Given the description of an element on the screen output the (x, y) to click on. 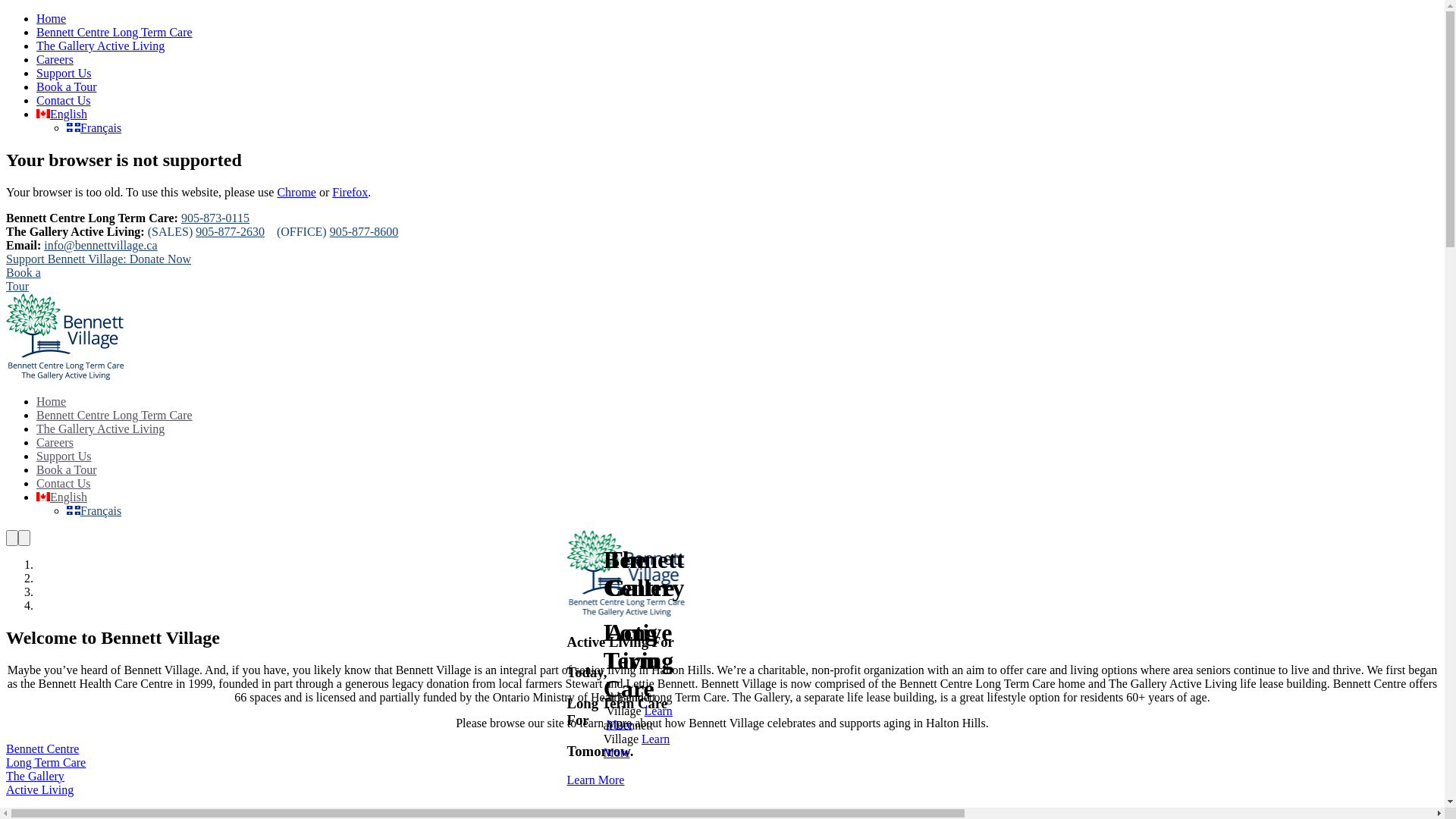
Support Us Element type: text (63, 72)
Book a Tour Element type: text (66, 469)
Careers Element type: text (54, 442)
English Element type: text (61, 496)
info@bennettvillage.ca Element type: text (99, 244)
Book a
Tour Element type: text (23, 279)
Firefox Element type: text (349, 191)
Careers Element type: text (54, 59)
905-877-8600 Element type: text (363, 231)
Learn More Element type: text (595, 779)
Support Bennett Village: Donate Now Element type: text (98, 258)
Chrome Element type: text (296, 191)
The Gallery Active Living Element type: text (100, 45)
Bennett Centre Long Term Care Element type: text (114, 31)
Bennett Centre
Long Term Care Element type: text (45, 755)
The Gallery
Active Living Element type: text (39, 782)
Home Element type: text (50, 401)
905-877-2630 Element type: text (229, 231)
Support Us Element type: text (63, 455)
Bennett Centre Long Term Care Element type: text (114, 414)
Learn More Element type: text (636, 745)
Book a Tour Element type: text (66, 86)
The Gallery Active Living Element type: text (100, 428)
English Element type: text (61, 113)
905-873-0115 Element type: text (215, 217)
Contact Us Element type: text (63, 100)
Contact Us Element type: text (63, 482)
Learn More Element type: text (638, 717)
Home Element type: text (50, 18)
